Given the description of an element on the screen output the (x, y) to click on. 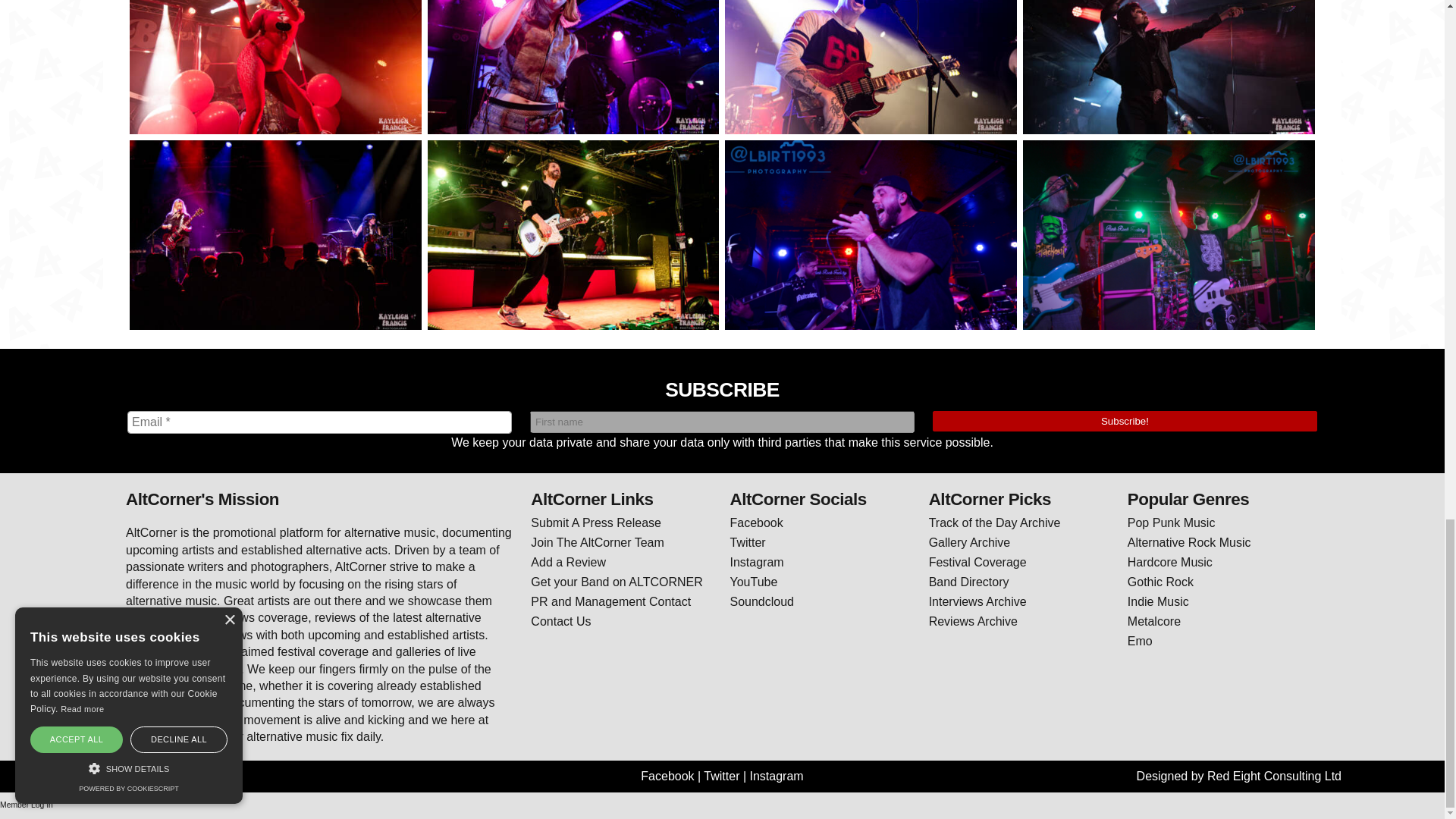
First name (721, 422)
Email (320, 422)
Subscribe! (1125, 421)
